Given the description of an element on the screen output the (x, y) to click on. 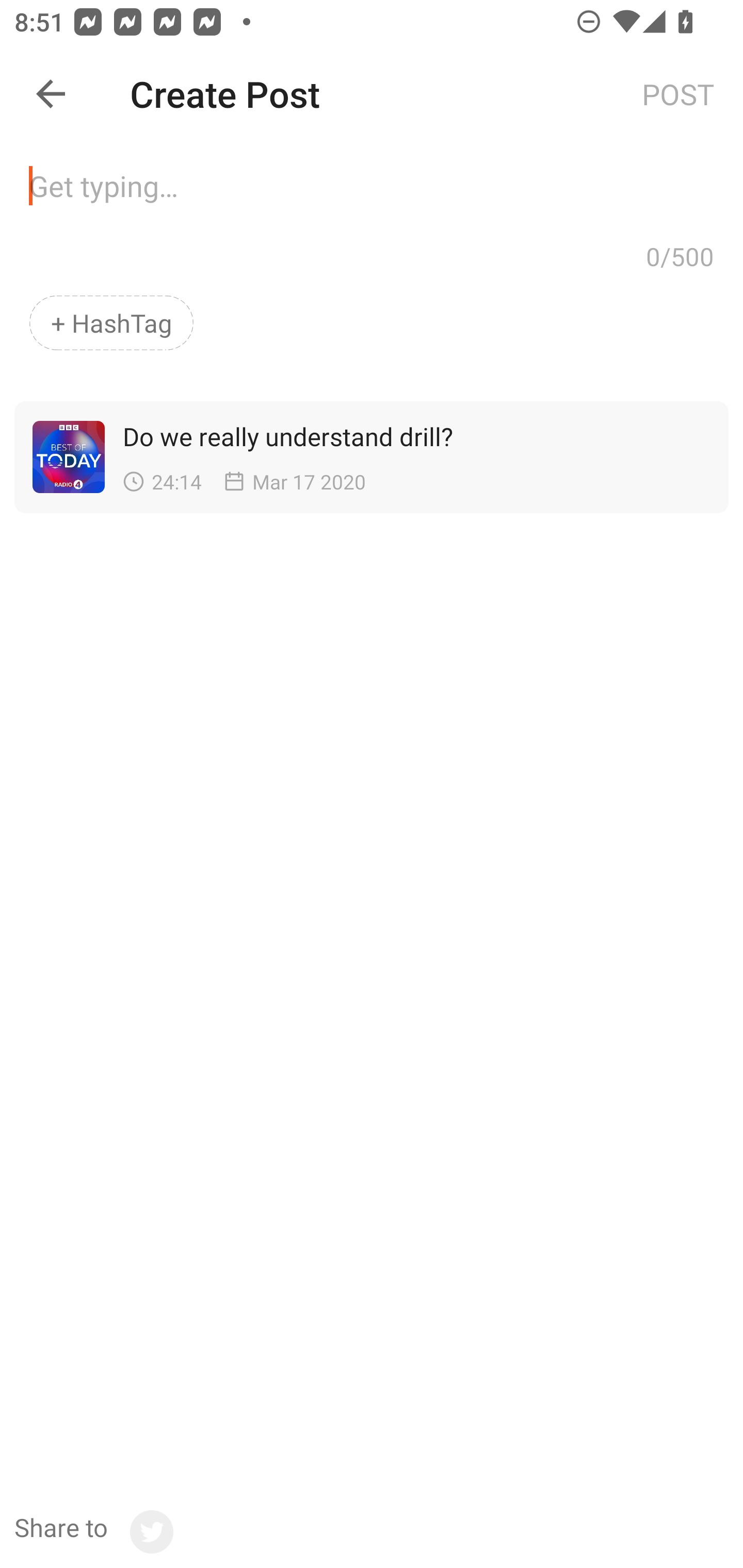
Navigate up (50, 93)
POST (677, 92)
Get typing… (371, 191)
+ HashTag (110, 322)
Share to (93, 1531)
